Given the description of an element on the screen output the (x, y) to click on. 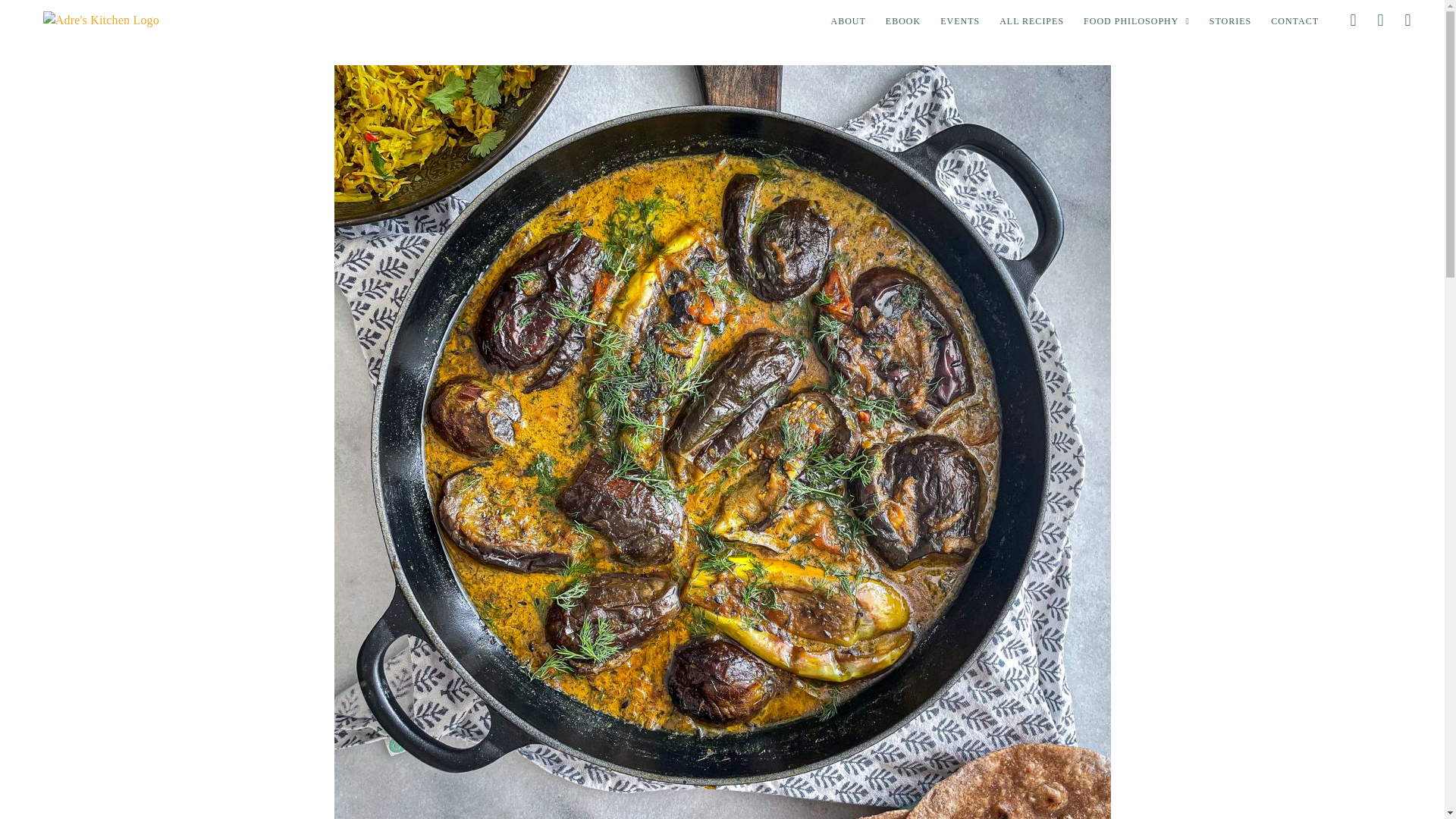
FOOD PHILOSOPHY (1136, 20)
EBOOK (903, 20)
CONTACT (1293, 20)
EVENTS (960, 20)
ABOUT (848, 20)
ALL RECIPES (1032, 20)
STORIES (1229, 20)
